Given the description of an element on the screen output the (x, y) to click on. 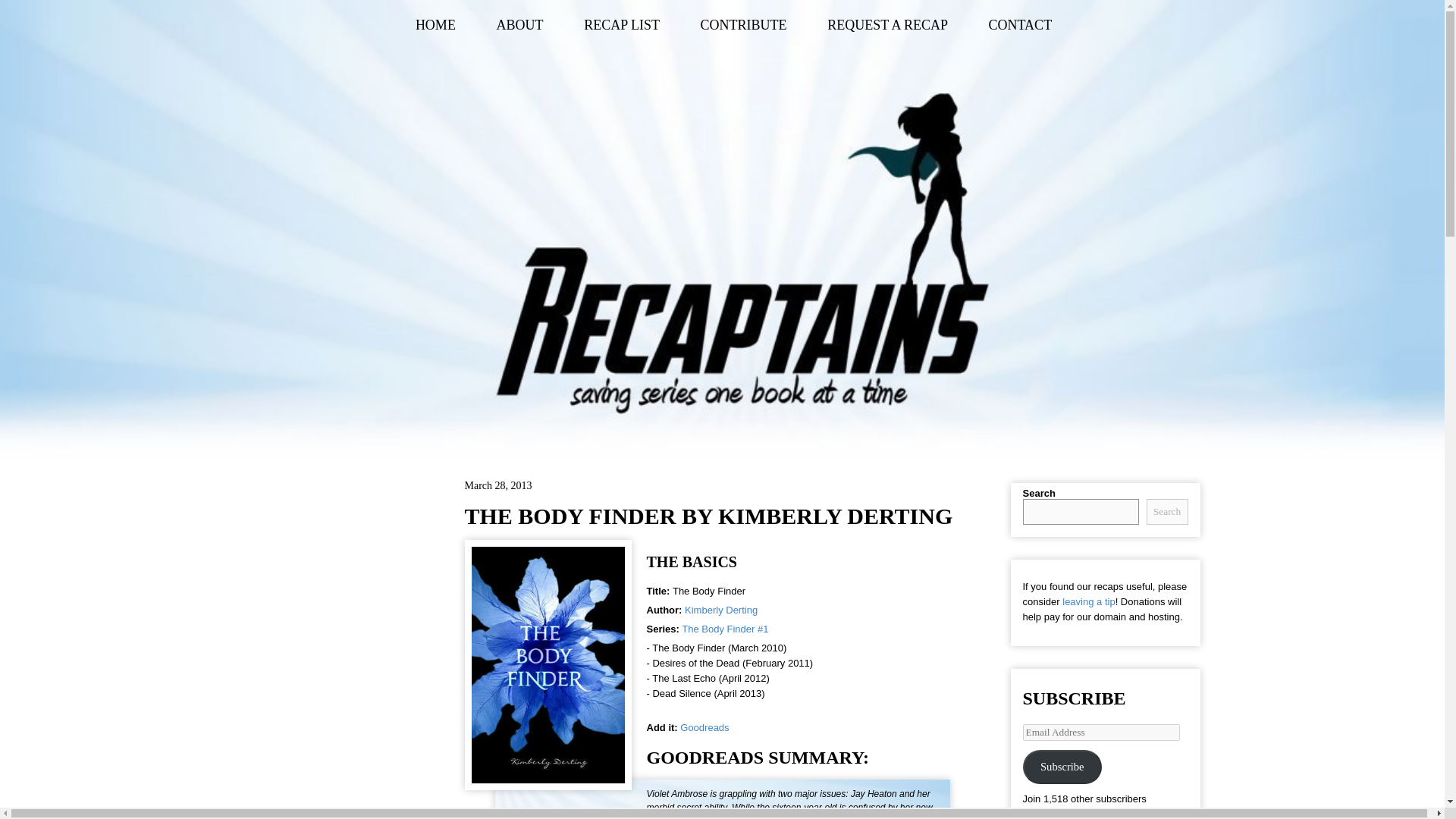
Search (1167, 511)
RECAP LIST (621, 25)
ABOUT (519, 25)
Kimberly Derting (720, 609)
CONTACT (1020, 25)
THE BODY FINDER BY KIMBERLY DERTING (708, 515)
REQUEST A RECAP (887, 25)
Subscribe (1062, 766)
CONTRIBUTE (743, 25)
Goodreads (704, 727)
leaving a tip (1088, 601)
HOME (434, 25)
